Given the description of an element on the screen output the (x, y) to click on. 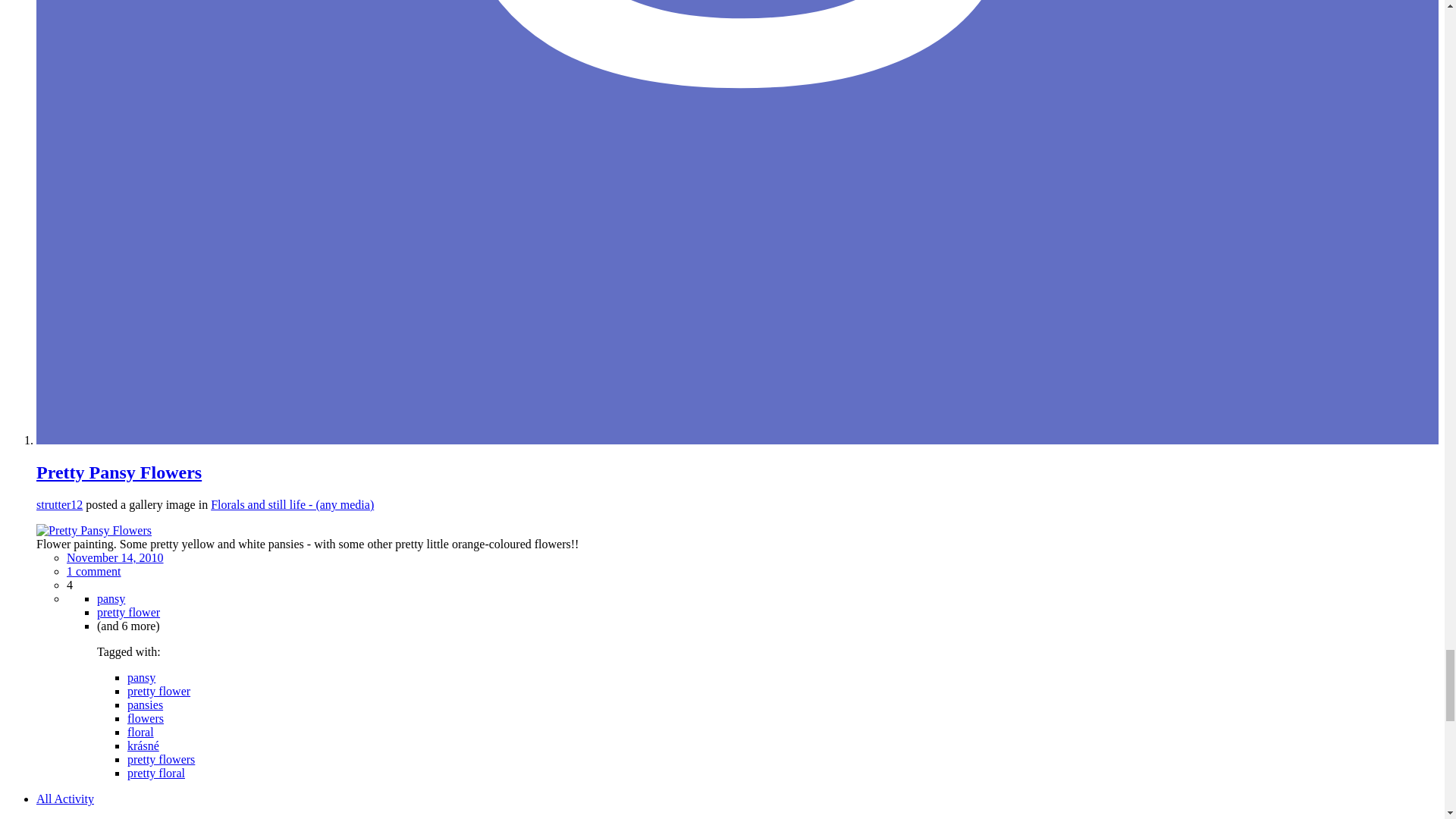
Find other content tagged with 'pretty flowers' (161, 758)
Find other content tagged with 'pretty flower' (159, 690)
Go to strutter12's profile (59, 504)
Find other content tagged with 'floral' (141, 731)
Find other content tagged with 'pretty floral' (156, 772)
Find other content tagged with 'flowers' (145, 717)
Find other content tagged with 'pansy' (141, 676)
Find other content tagged with 'pansies' (145, 704)
View the image Pretty Pansy Flowers (93, 530)
Find other content tagged with 'pretty flower' (128, 612)
Find other content tagged with 'pansy' (111, 598)
